Given the description of an element on the screen output the (x, y) to click on. 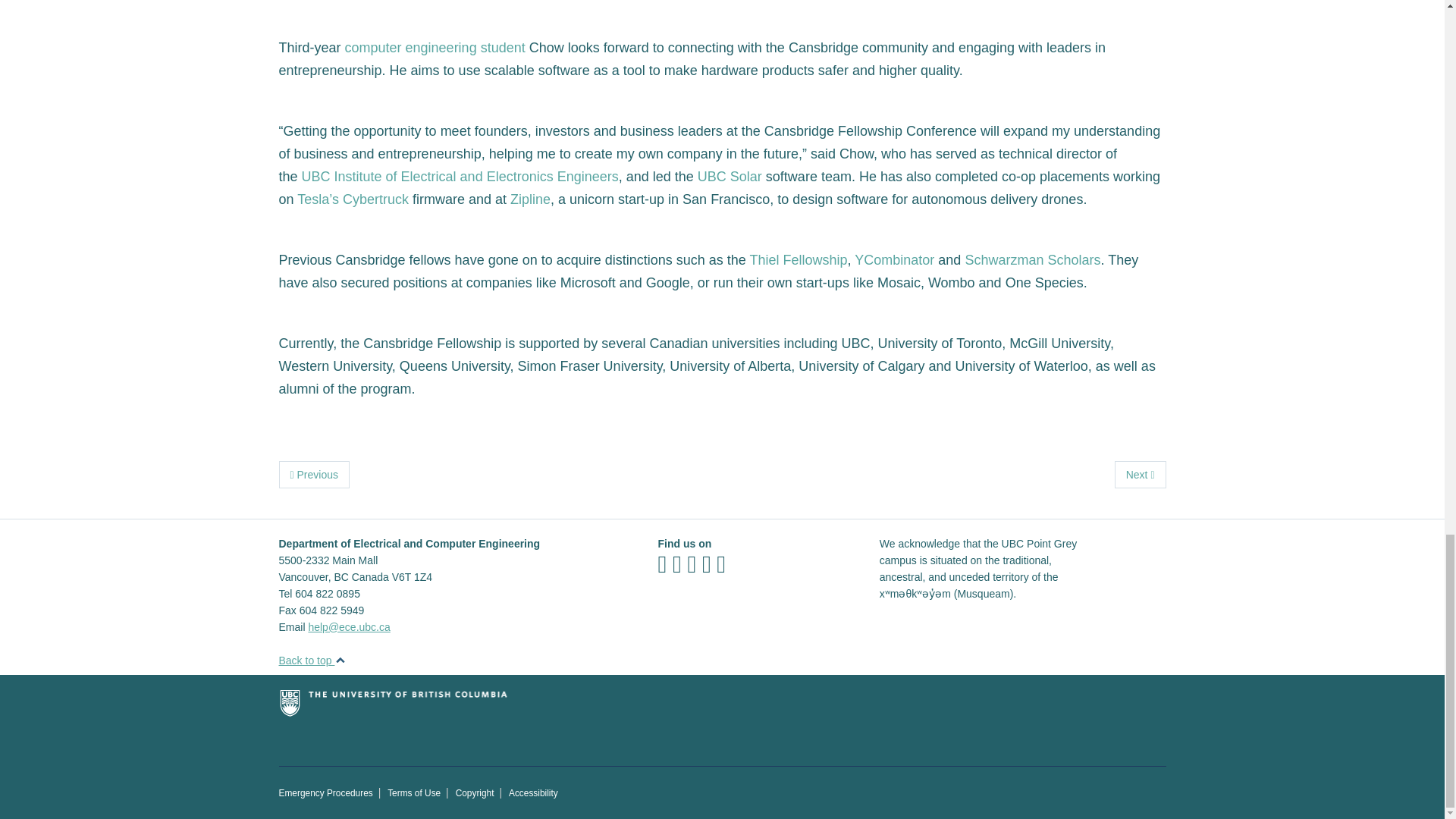
Terms of Use (414, 792)
UBC Copyright (475, 792)
Accessibility (532, 792)
Back to top (312, 660)
Emergency Procedures (325, 792)
